Given the description of an element on the screen output the (x, y) to click on. 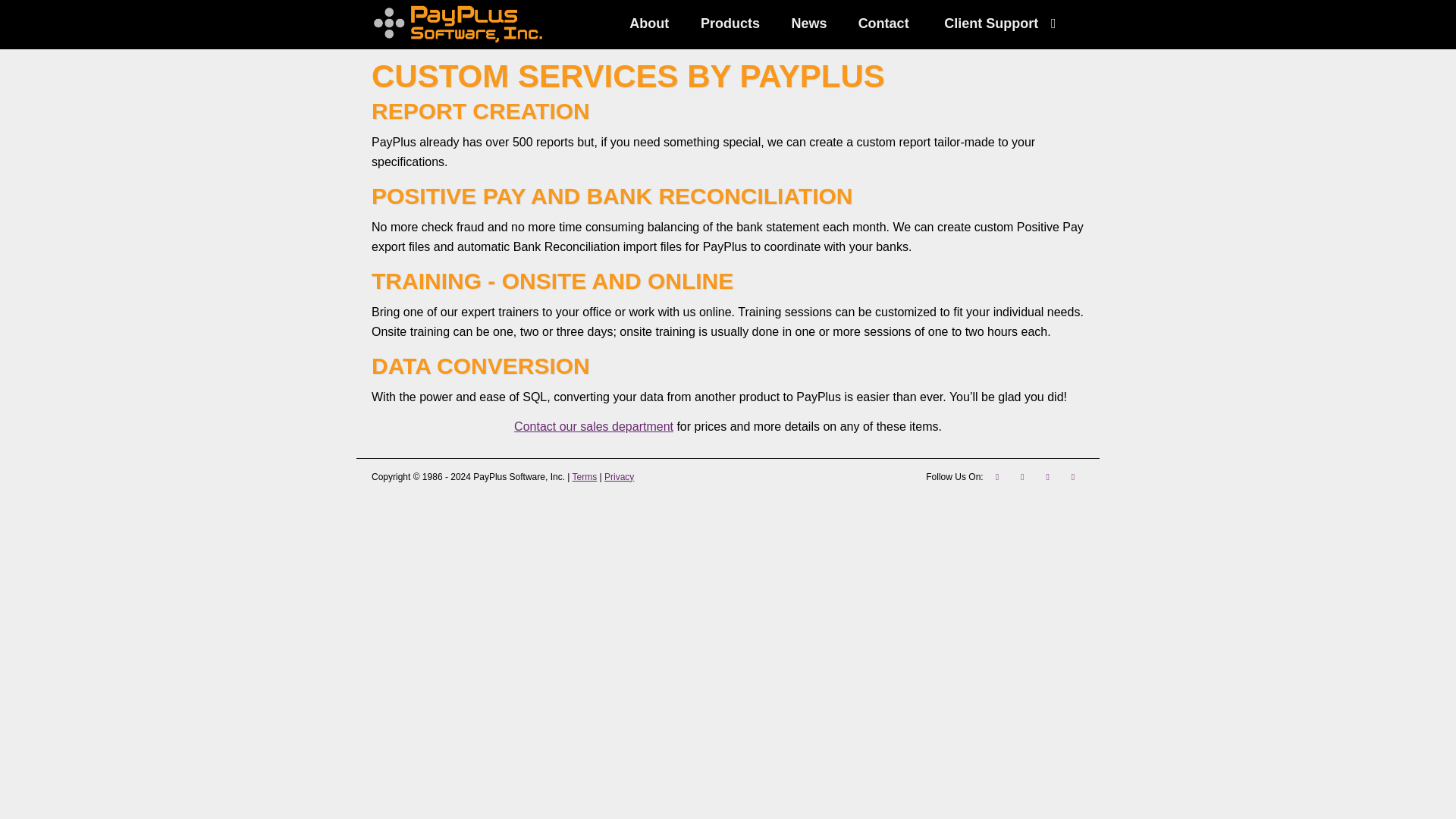
Contact (883, 24)
Products (730, 24)
Privacy (618, 476)
News (809, 24)
About (649, 24)
Terms (584, 476)
Client Support (1004, 24)
Contact our sales department (592, 426)
